Given the description of an element on the screen output the (x, y) to click on. 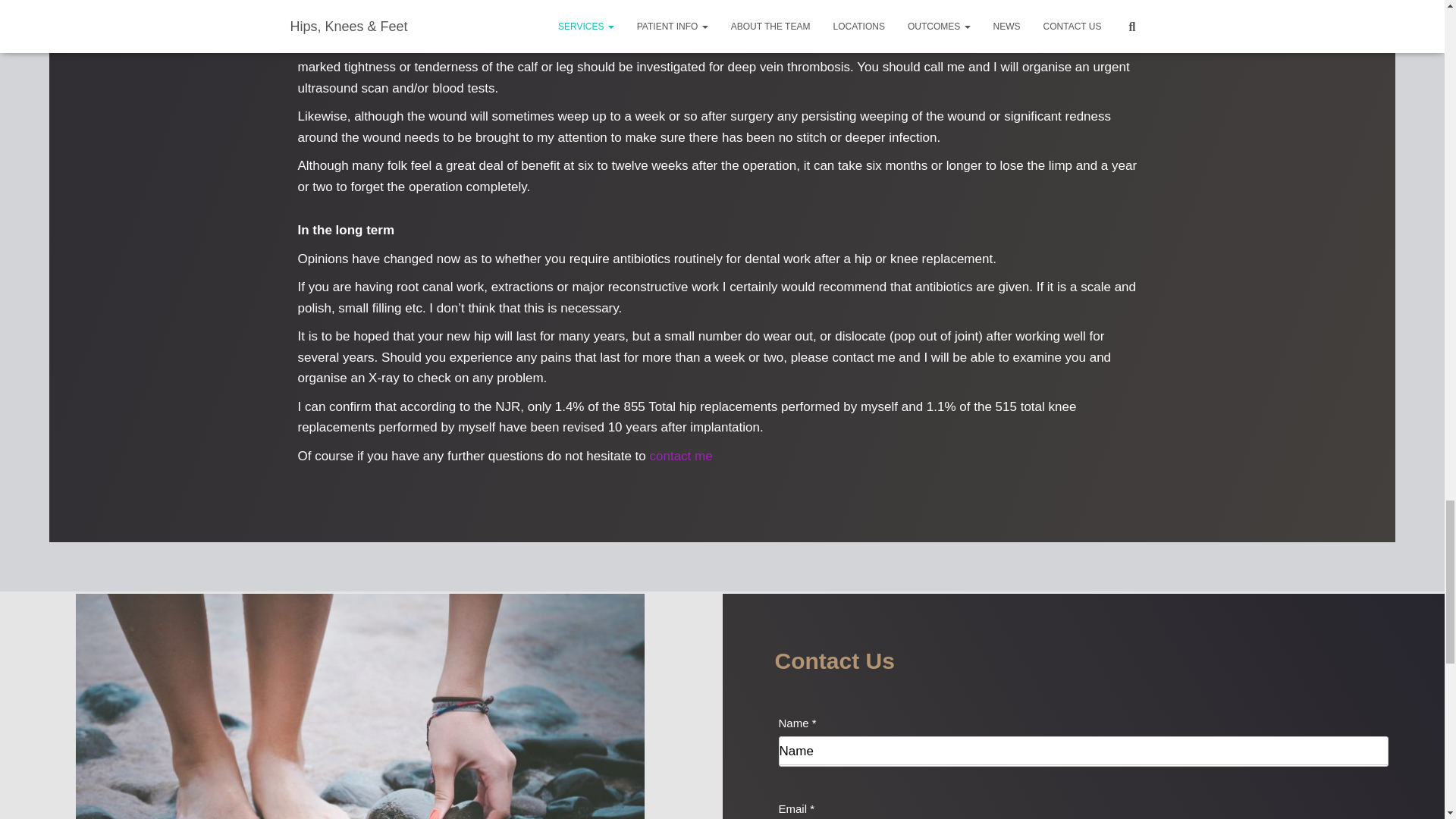
contact me (680, 455)
